Given the description of an element on the screen output the (x, y) to click on. 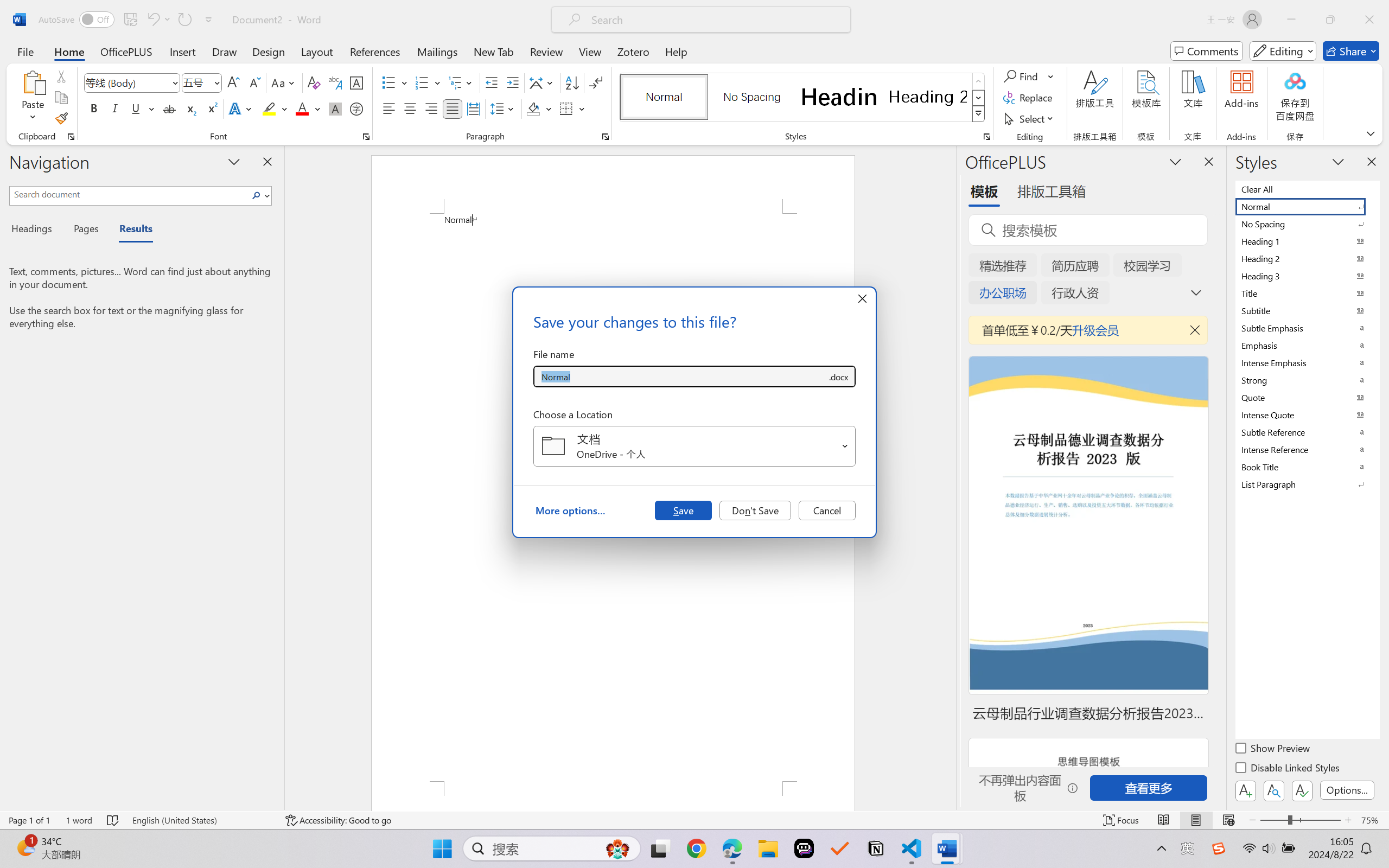
Page Number Page 1 of 1 (29, 819)
